Given the description of an element on the screen output the (x, y) to click on. 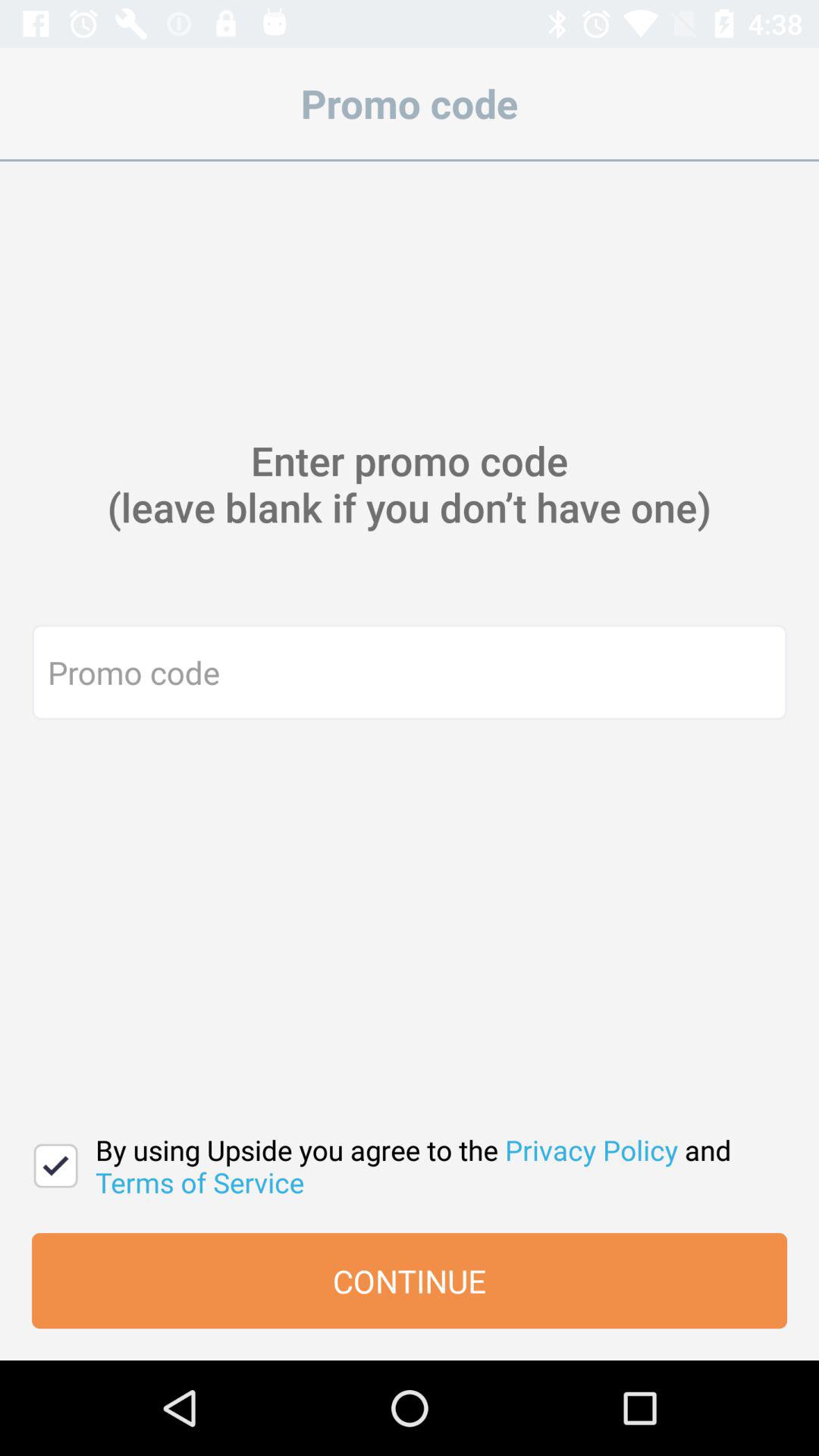
tap the icon above continue item (433, 1166)
